Given the description of an element on the screen output the (x, y) to click on. 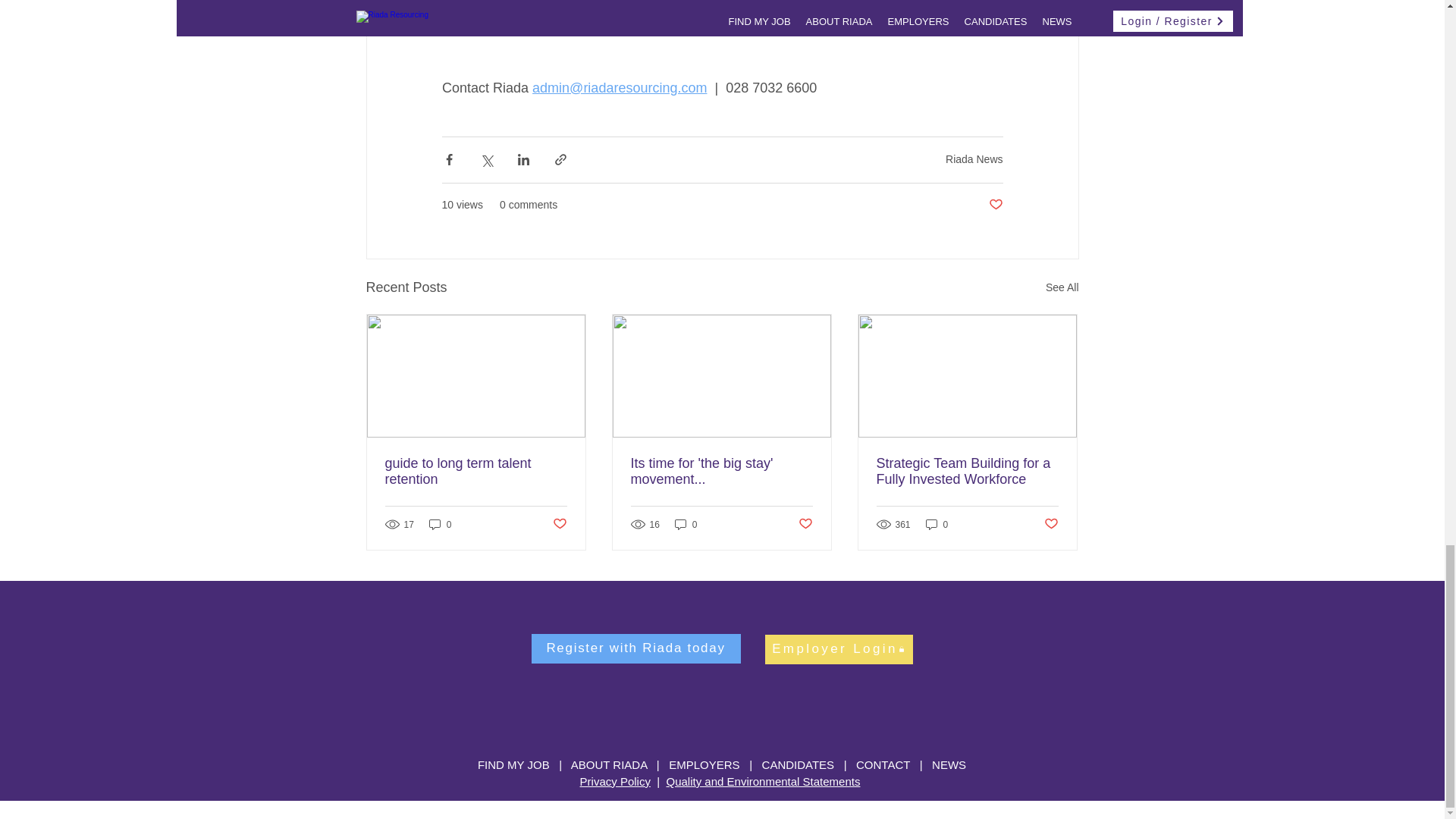
guide to long term talent retention (476, 471)
See All (1061, 287)
Post not marked as liked (995, 204)
Riada News (973, 159)
